Given the description of an element on the screen output the (x, y) to click on. 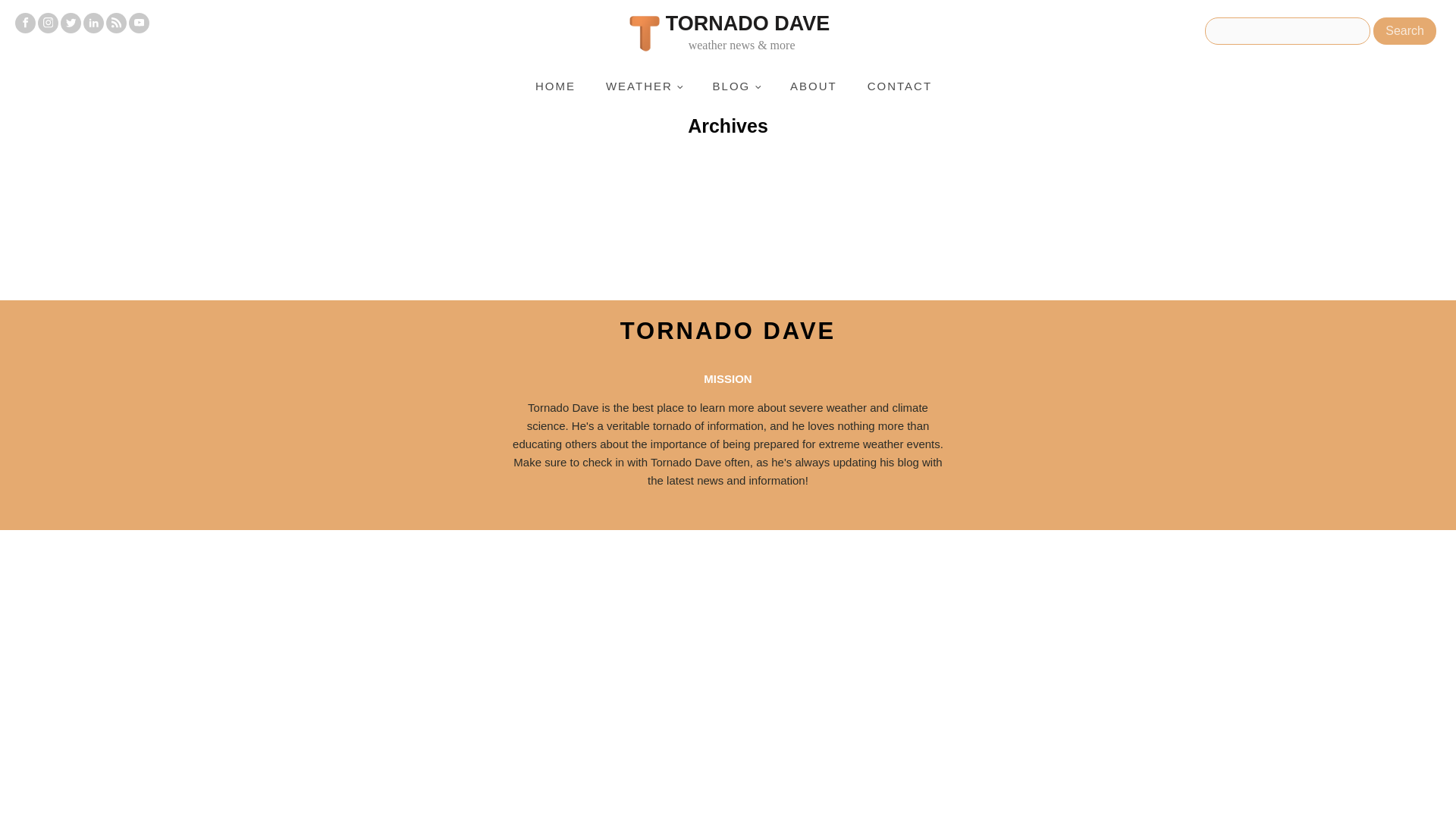
BLOG (735, 86)
TORNADO DAVE (727, 330)
HOME (555, 86)
WEATHER (644, 86)
CONTACT (899, 86)
Search (1404, 31)
ABOUT (812, 86)
Search (1404, 31)
